Given the description of an element on the screen output the (x, y) to click on. 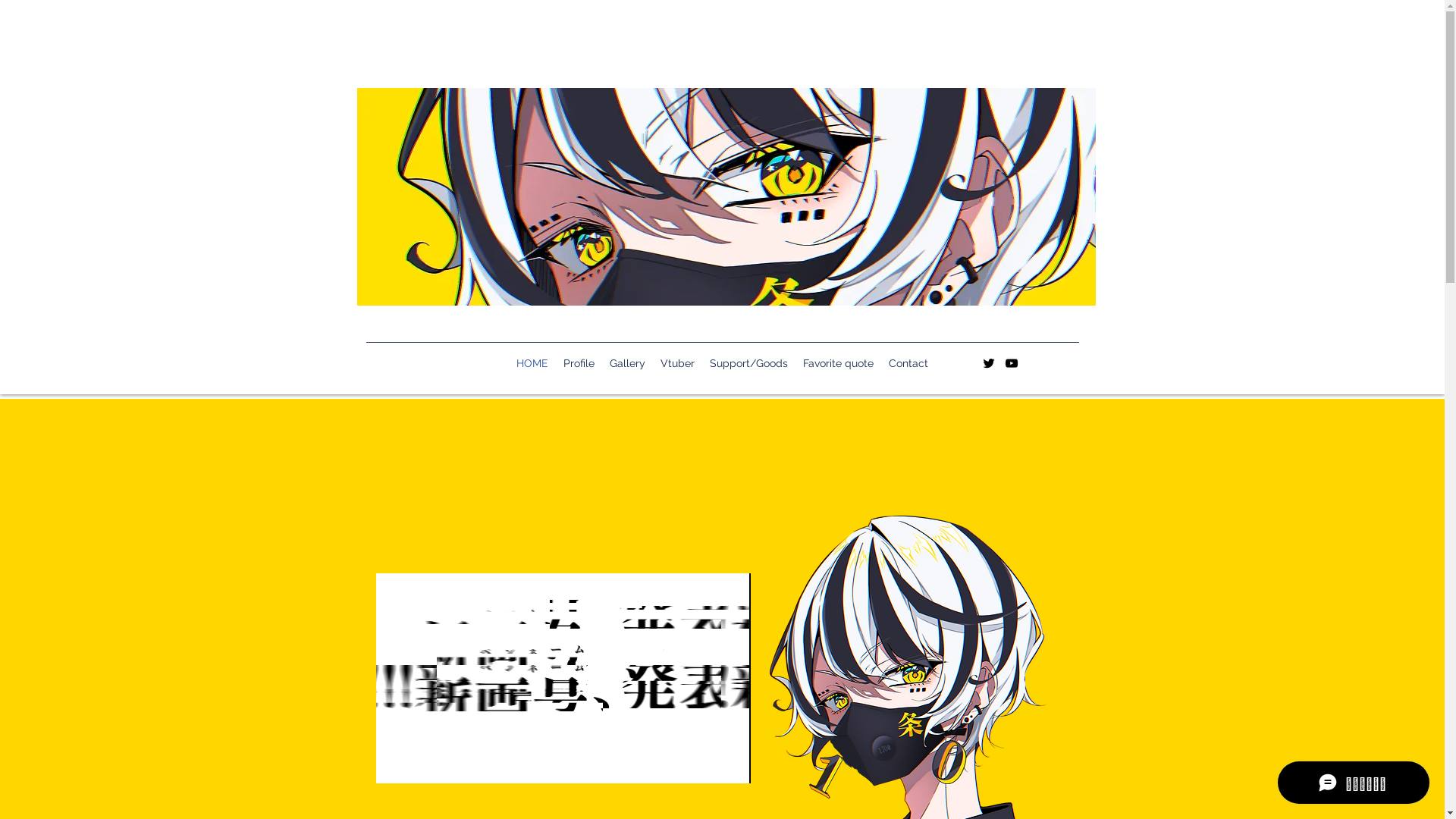
HOME Element type: text (531, 362)
Support/Goods Element type: text (748, 362)
Contact Element type: text (908, 362)
Favorite quote Element type: text (838, 362)
Gallery Element type: text (627, 362)
Profile Element type: text (578, 362)
Vtuber Element type: text (677, 362)
